Given the description of an element on the screen output the (x, y) to click on. 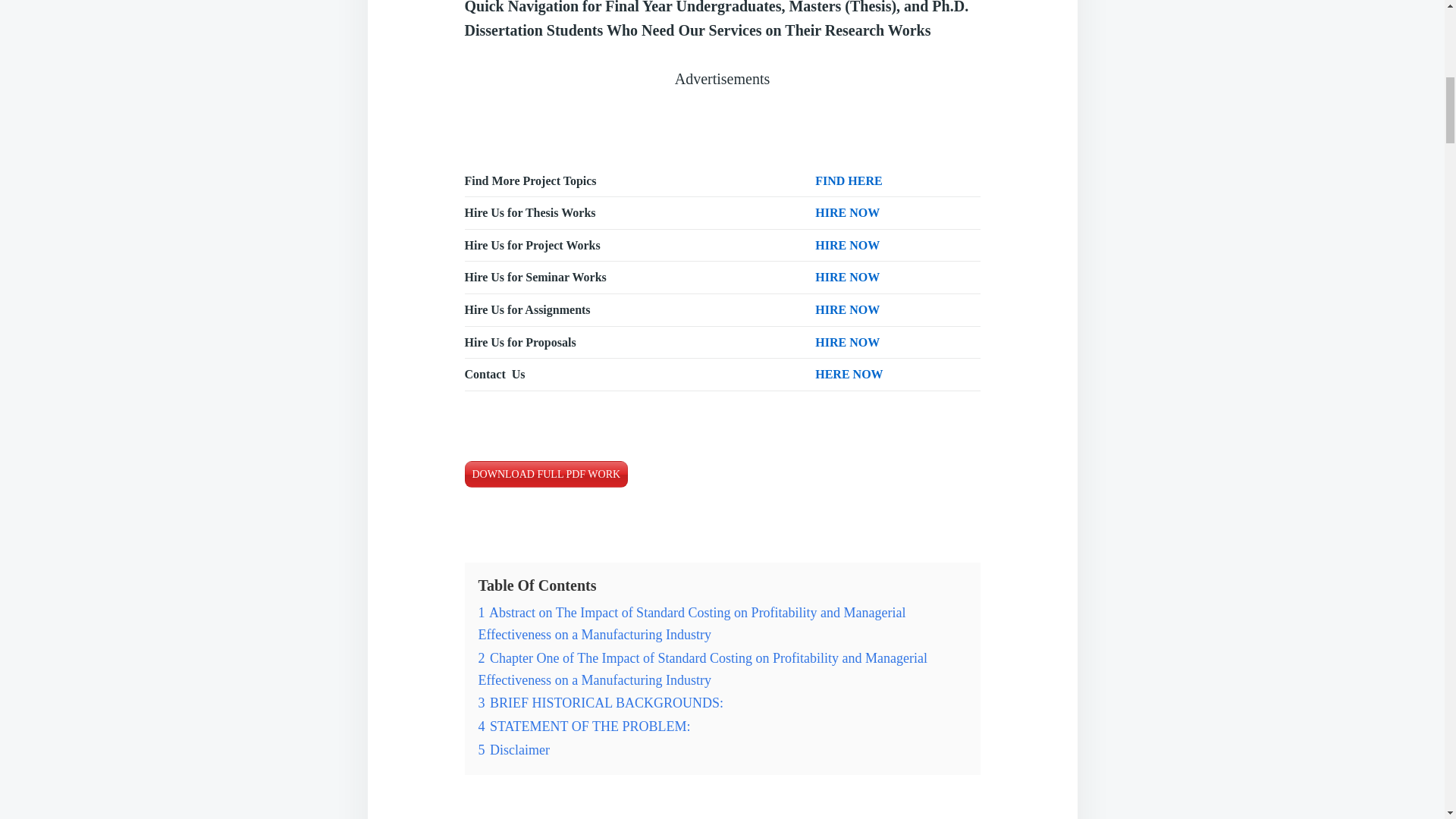
HERE NOW (848, 373)
DOWNLOAD FULL PDF WORK (545, 474)
4 STATEMENT OF THE PROBLEM: (583, 726)
HIRE NOW (847, 309)
3 BRIEF HISTORICAL BACKGROUNDS: (600, 702)
FIND HERE (848, 180)
HIRE NOW (847, 245)
HIRE NOW (847, 341)
HIRE NOW (847, 212)
5 Disclaimer (512, 749)
HIRE NOW (847, 277)
